Given the description of an element on the screen output the (x, y) to click on. 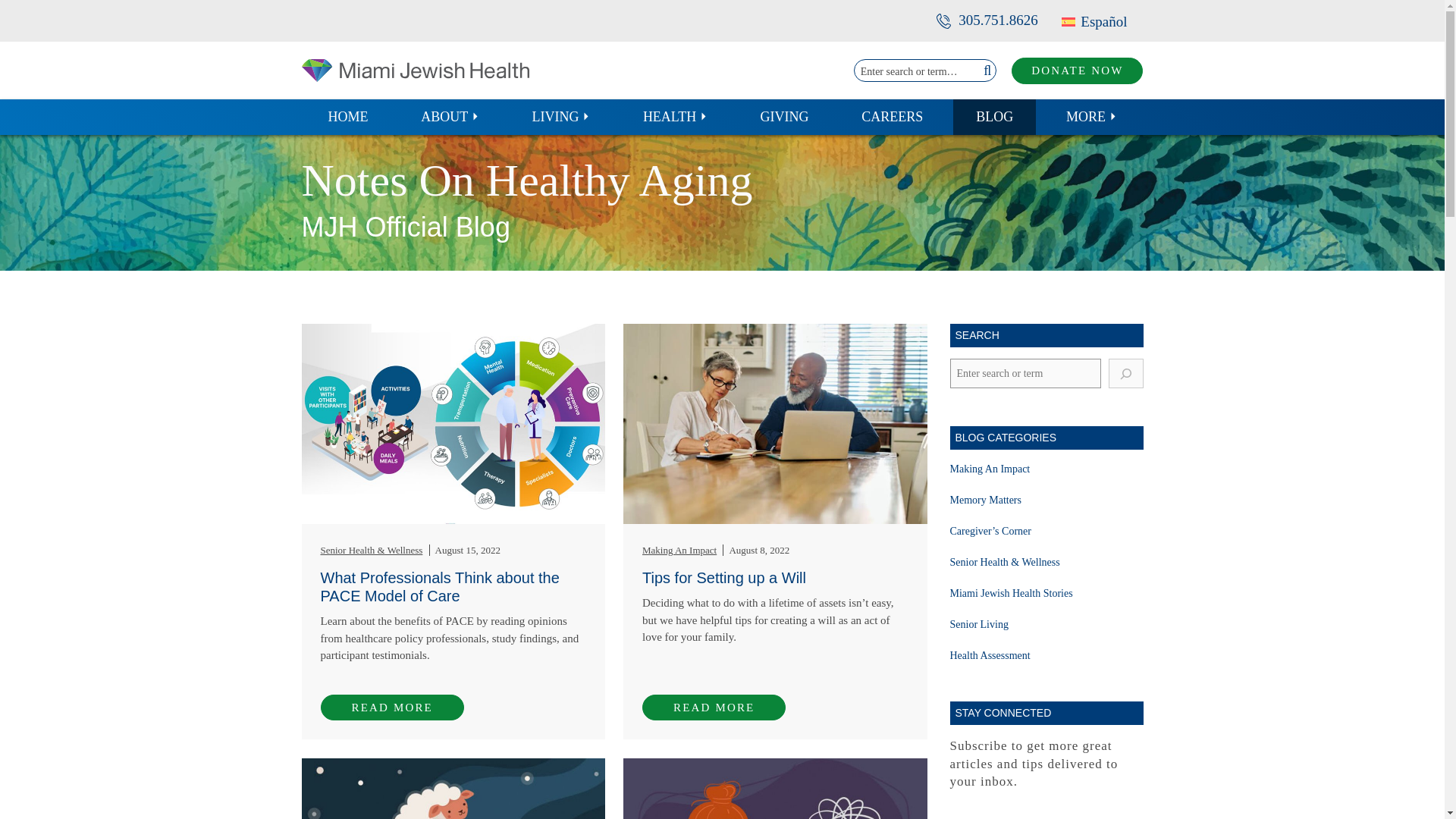
HOME (347, 117)
MORE (1091, 117)
GIVING (784, 117)
HEALTH (675, 117)
DONATE NOW (1076, 70)
Miami Jewish Health (415, 70)
LIVING (560, 117)
CAREERS (891, 117)
ABOUT (449, 117)
BLOG (994, 117)
